Given the description of an element on the screen output the (x, y) to click on. 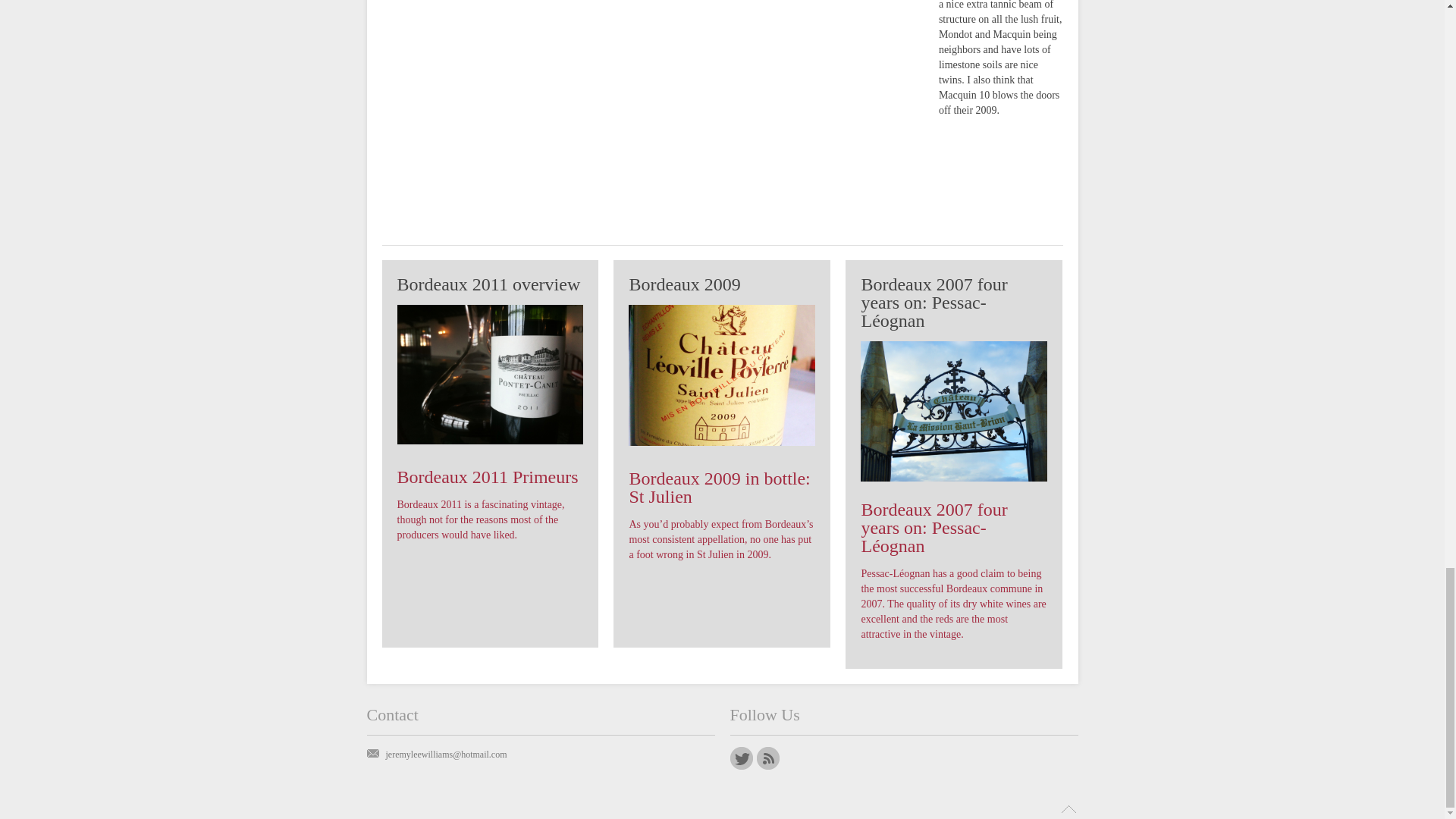
Twitter (740, 757)
RSS (767, 757)
